Given the description of an element on the screen output the (x, y) to click on. 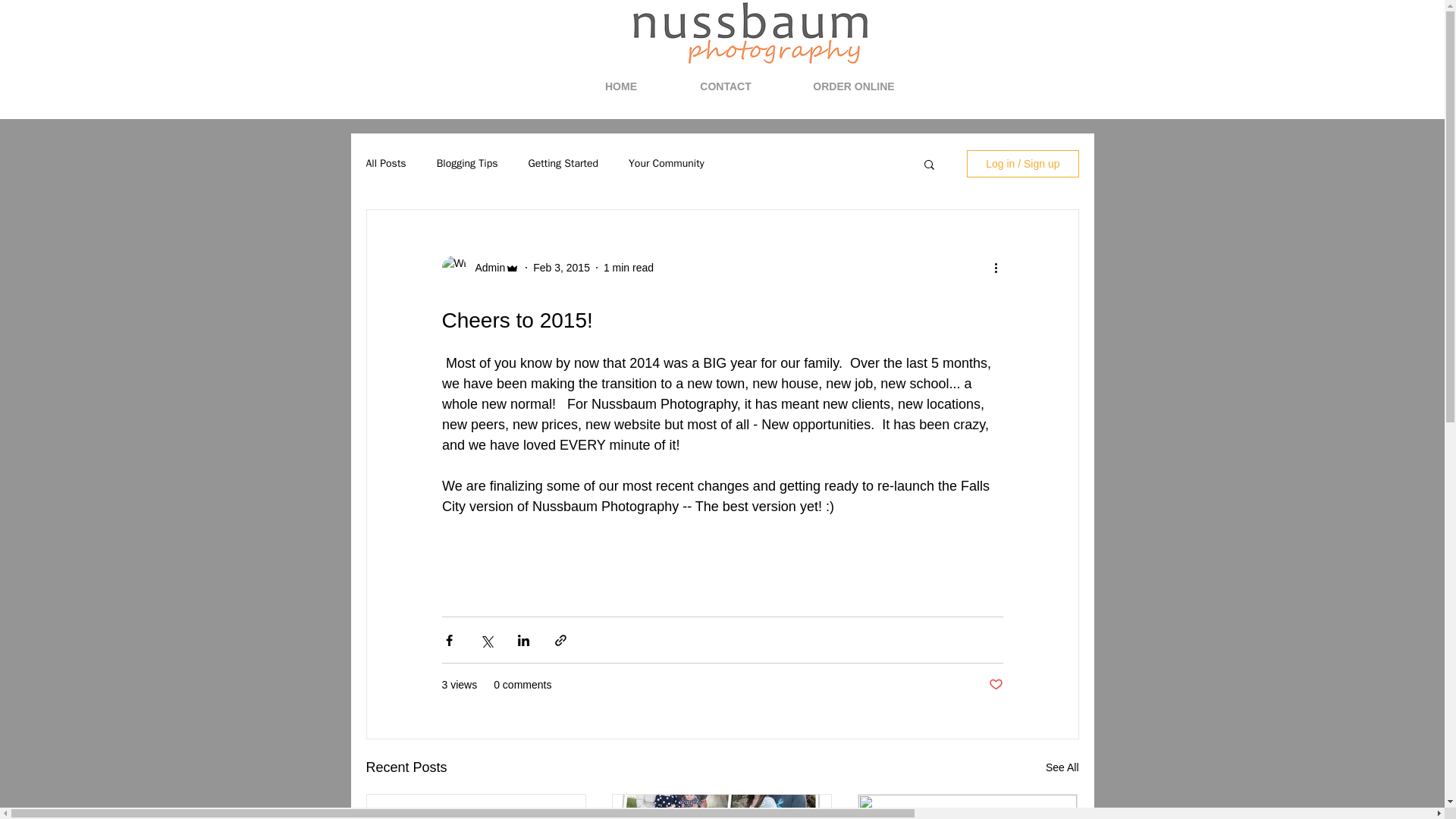
Your Community (666, 163)
Post not marked as liked (995, 684)
See All (1061, 767)
Blogging Tips (466, 163)
All Posts (385, 163)
Feb 3, 2015 (560, 266)
Admin (485, 267)
Getting Started (562, 163)
ORDER ONLINE (854, 86)
1 min read (628, 266)
HOME (621, 86)
CONTACT (724, 86)
CYBER MONDAY SALE! (476, 816)
